Given the description of an element on the screen output the (x, y) to click on. 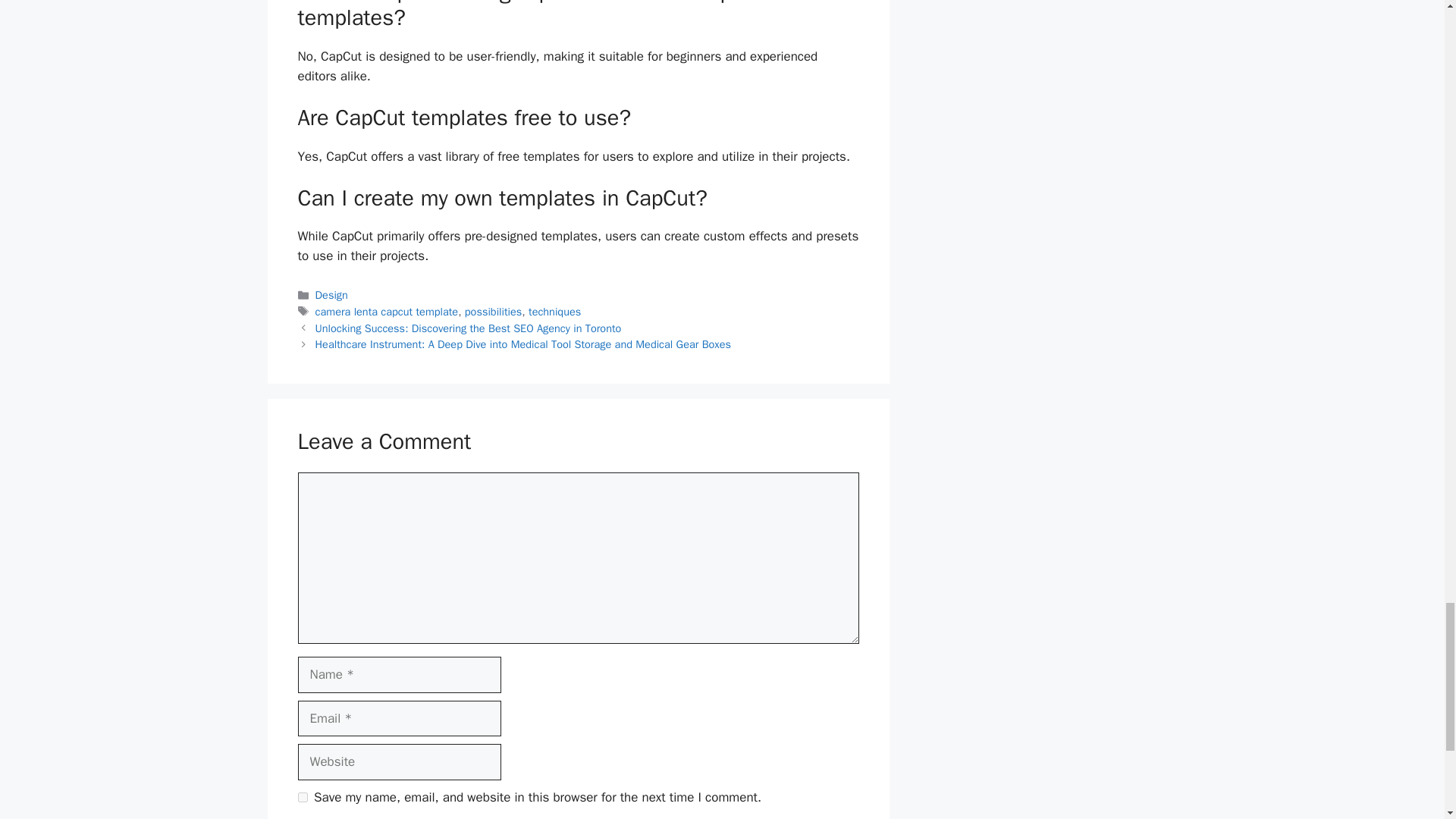
camera lenta capcut template (386, 311)
yes (302, 797)
possibilities (493, 311)
Design (331, 295)
techniques (554, 311)
